Given the description of an element on the screen output the (x, y) to click on. 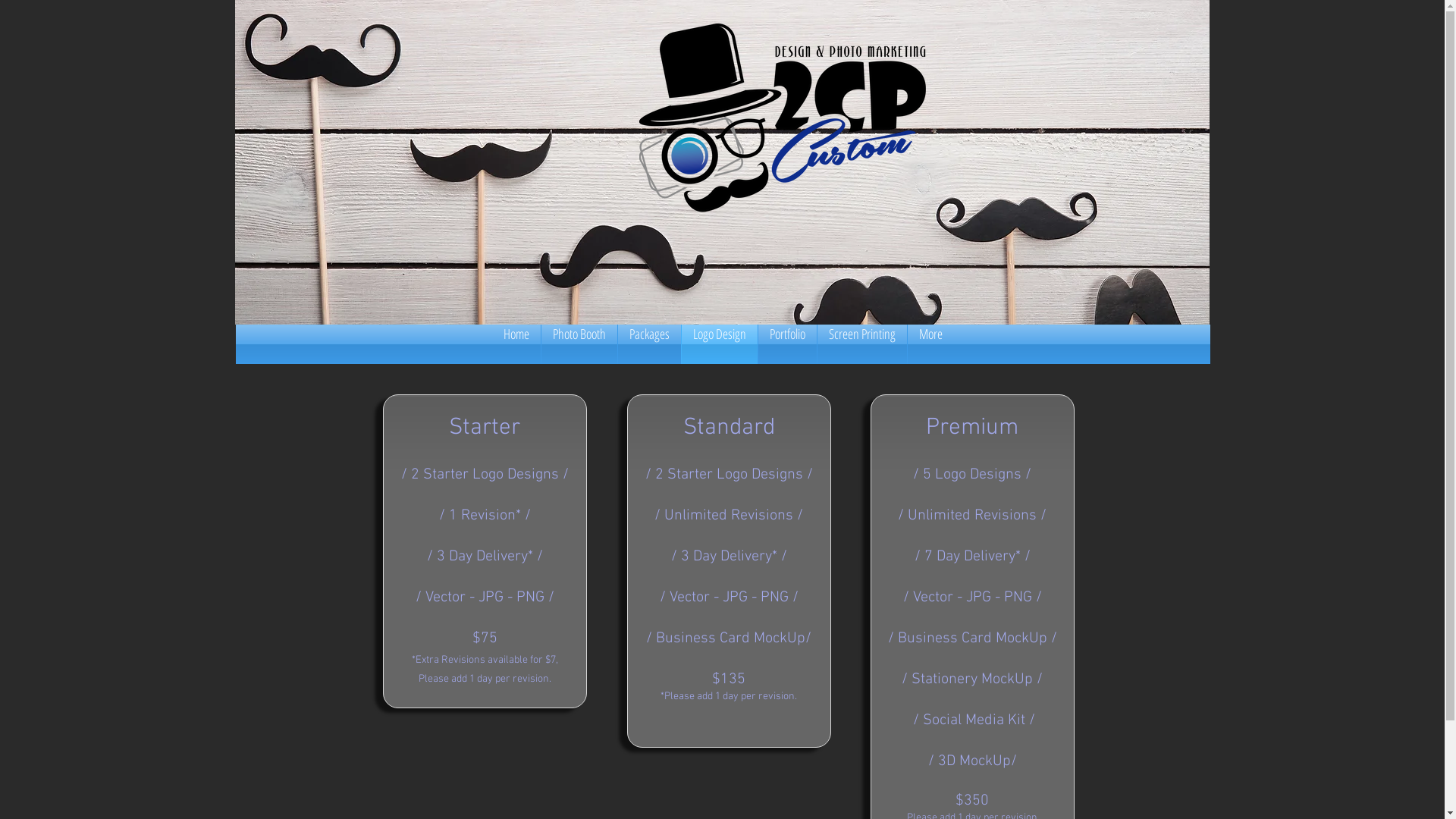
Packages Element type: text (648, 344)
Screen Printing Element type: text (861, 344)
Photo Booth Element type: text (579, 344)
Home Element type: text (515, 344)
Portfolio Element type: text (787, 344)
Logo Design Element type: text (718, 344)
